Given the description of an element on the screen output the (x, y) to click on. 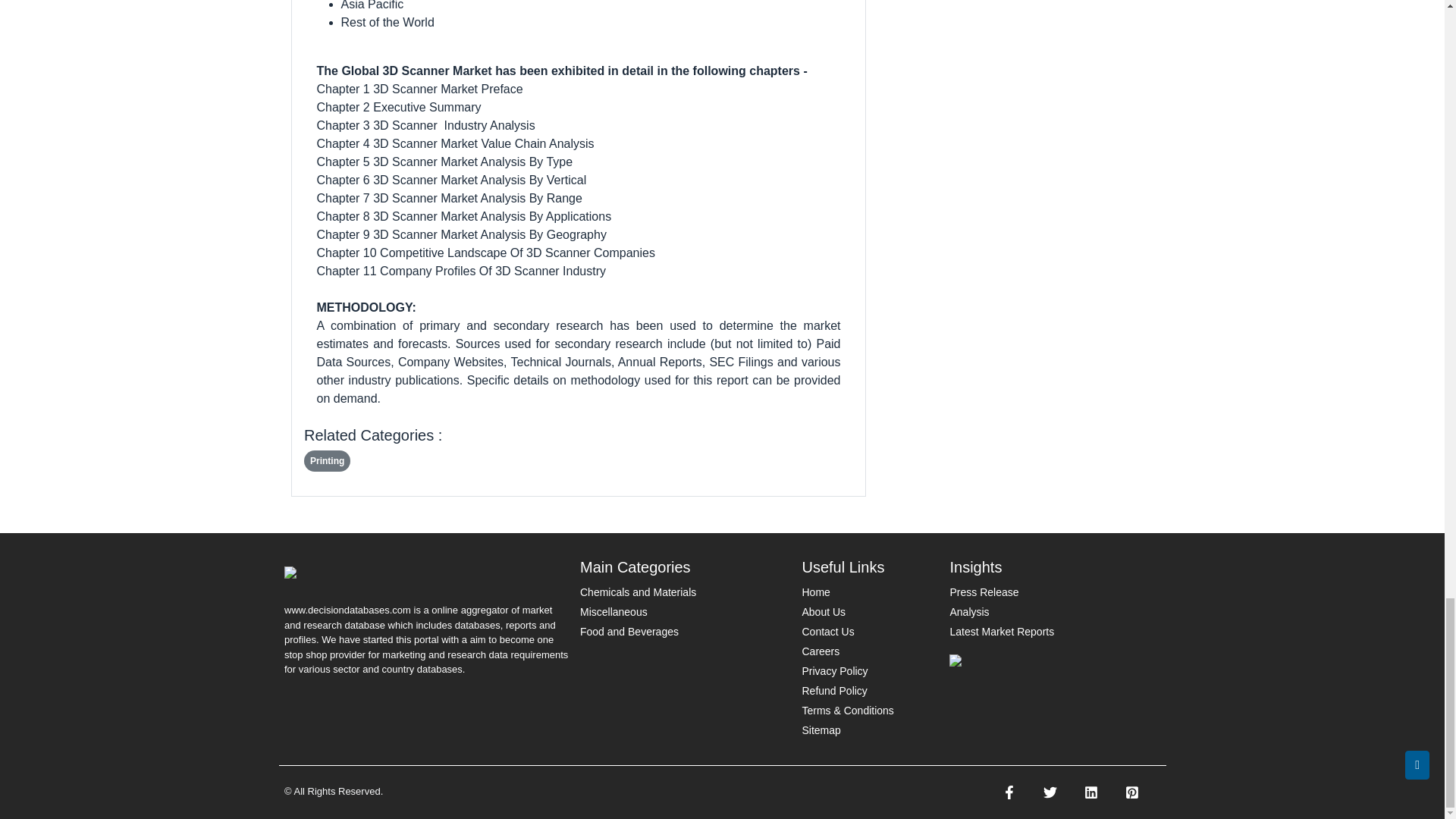
Latest Market Reports (1001, 631)
Contact Us (827, 631)
Analysis (968, 612)
Home (815, 592)
Refund Policy (834, 690)
Sitemap (821, 729)
Printing (327, 460)
Careers (821, 651)
Press Release (983, 592)
Food and Beverages (628, 631)
Miscellaneous (613, 612)
Chemicals and Materials (637, 592)
Privacy Policy (834, 671)
About Us (823, 612)
